Given the description of an element on the screen output the (x, y) to click on. 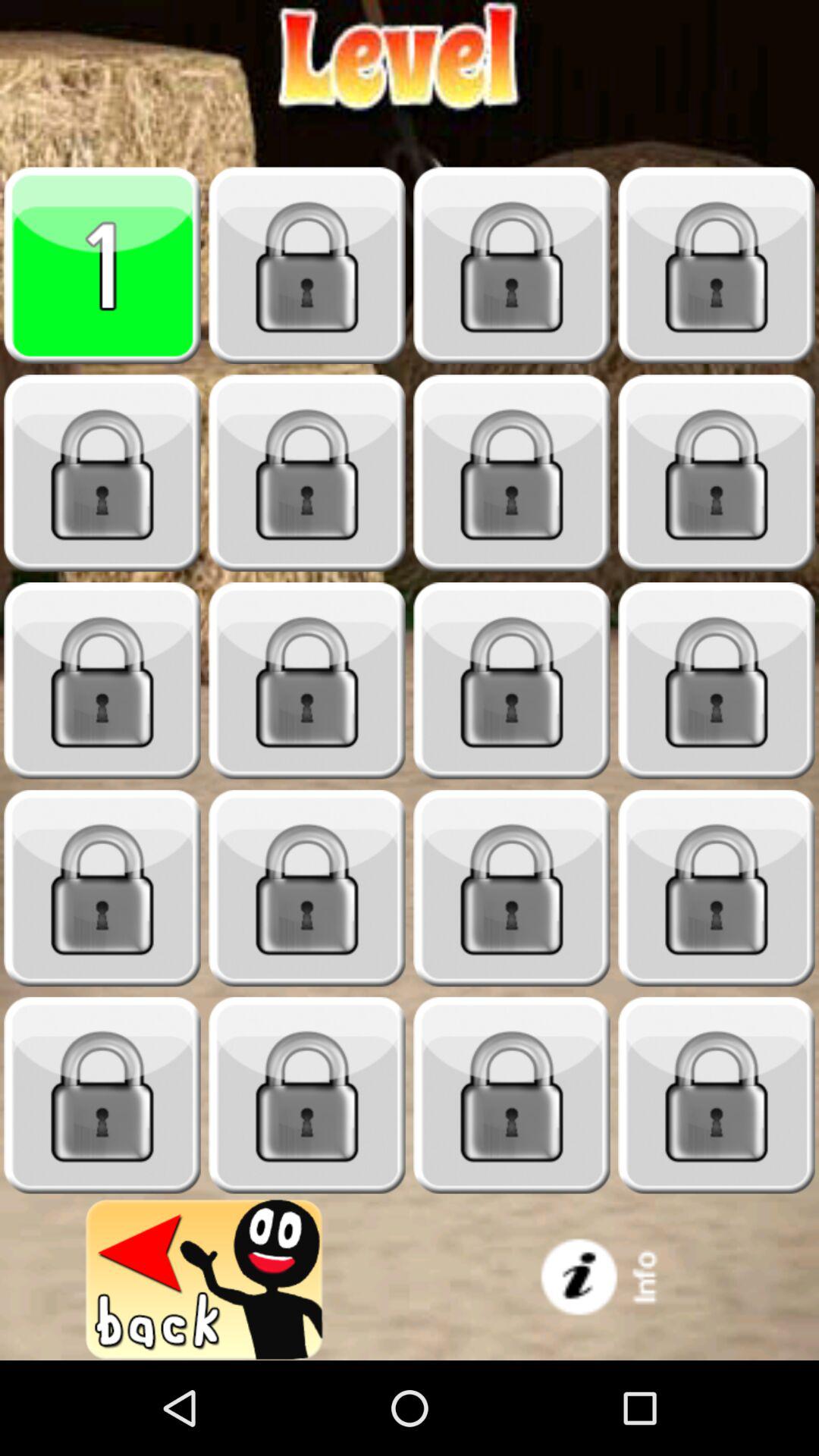
unlock new level (306, 680)
